Given the description of an element on the screen output the (x, y) to click on. 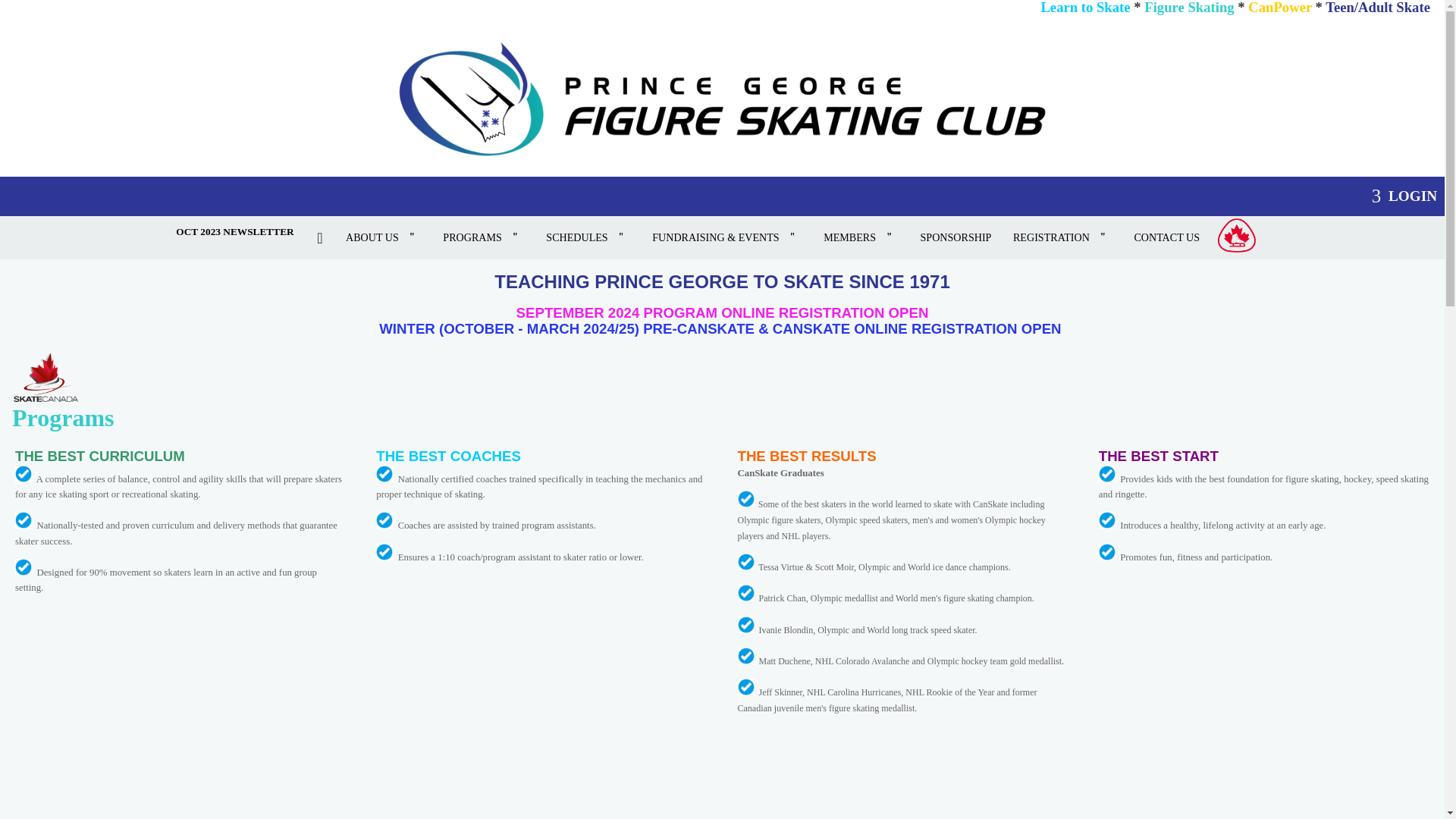
LOGIN (1404, 196)
Figure Skating (1188, 7)
Adult Skate (1376, 7)
Prince George Figure Skating Club (721, 100)
CanPower (1279, 7)
Programs (483, 237)
SPONSORSHIP (956, 237)
MEMBERS (860, 237)
Login (1404, 196)
PROGRAMS (483, 237)
